Given the description of an element on the screen output the (x, y) to click on. 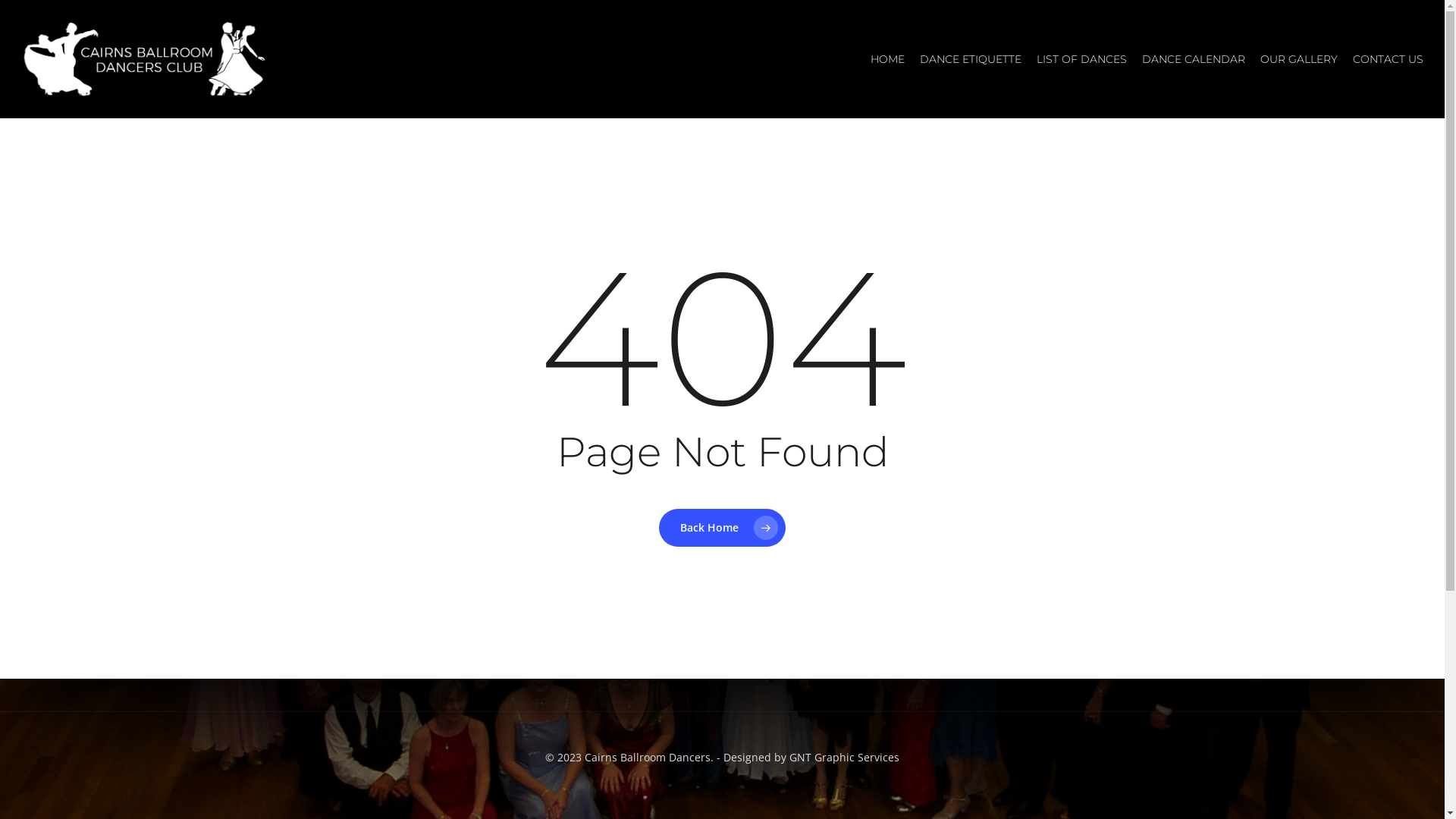
DANCE CALENDAR Element type: text (1193, 58)
OUR GALLERY Element type: text (1298, 58)
Terms & Conditions Element type: text (770, 667)
LIST OF DANCES Element type: text (1081, 58)
HOME Element type: text (887, 58)
CONTACT US Element type: text (1387, 58)
GNT Graphic Services Element type: text (844, 756)
Back Home Element type: text (721, 527)
ballroomdanceclubcairns@gmail.com Element type: text (753, 603)
DANCE ETIQUETTE Element type: text (970, 58)
Privacy Policy Element type: text (657, 667)
